Given the description of an element on the screen output the (x, y) to click on. 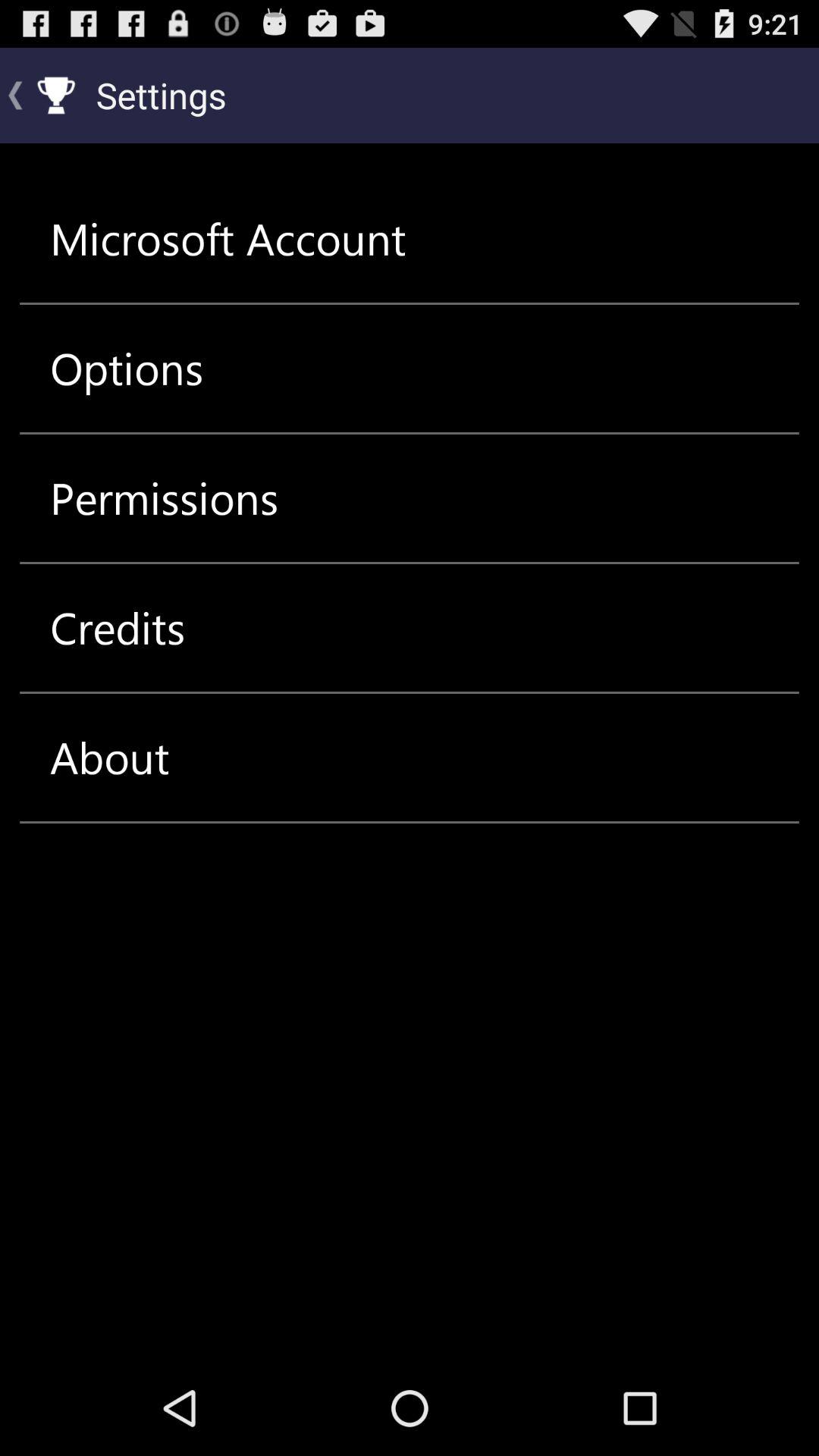
select the permissions (164, 497)
